Given the description of an element on the screen output the (x, y) to click on. 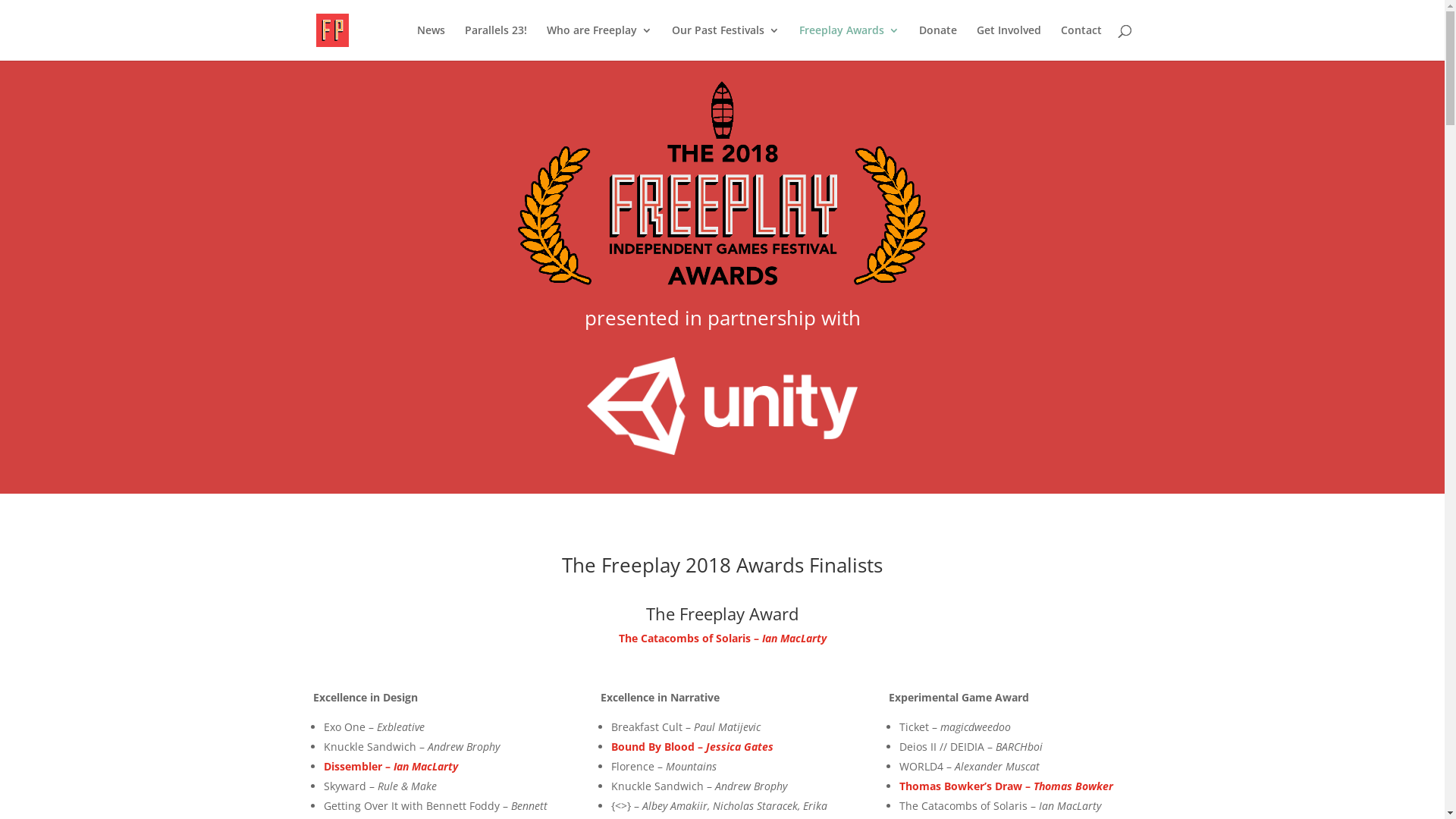
News Element type: text (431, 42)
Donate Element type: text (938, 42)
Our Past Festivals Element type: text (725, 42)
Parallels 23! Element type: text (495, 42)
Get Involved Element type: text (1008, 42)
Who are Freeplay Element type: text (598, 42)
Freeplay Awards Element type: text (849, 42)
Contact Element type: text (1080, 42)
